Given the description of an element on the screen output the (x, y) to click on. 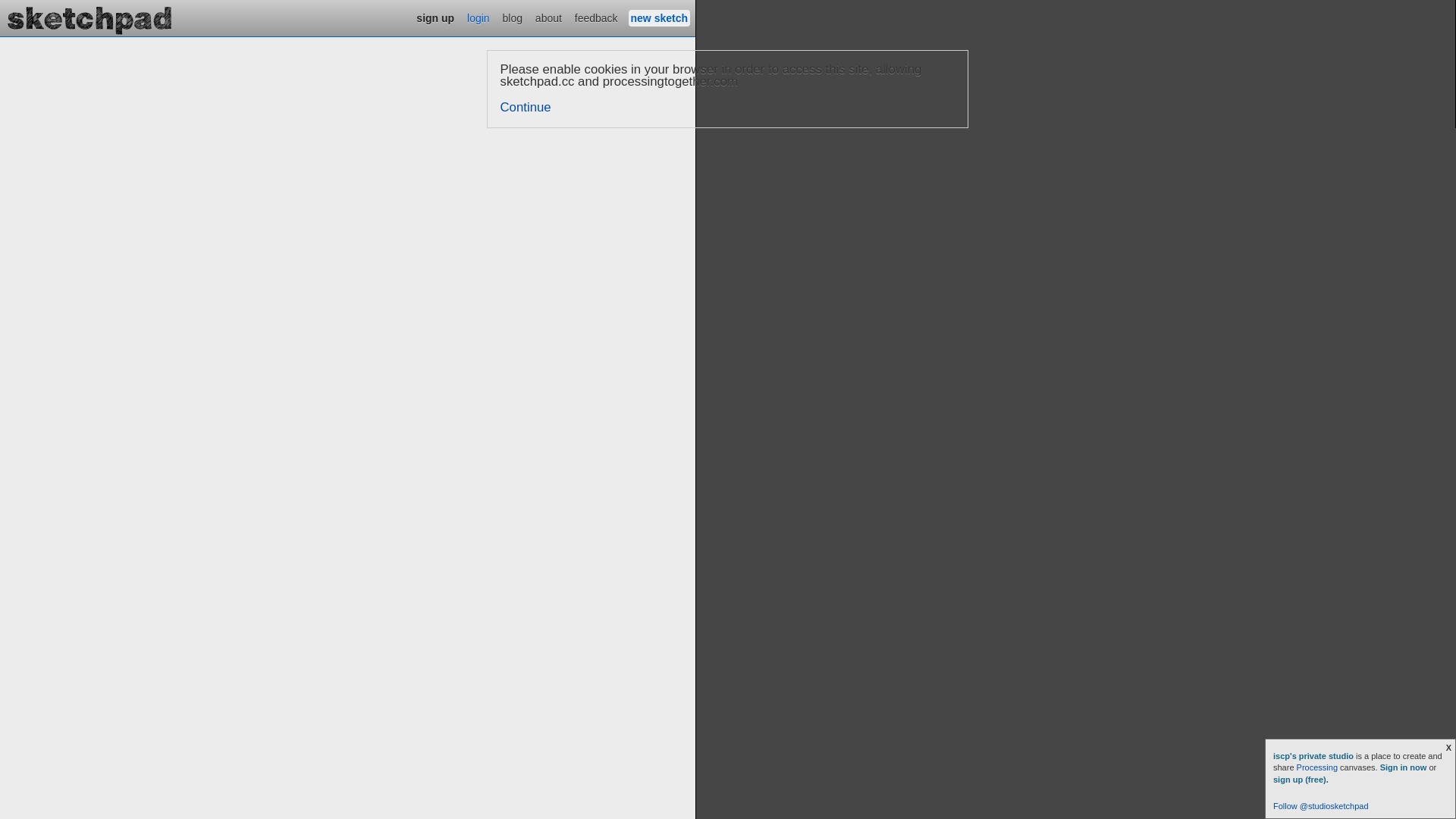
Sign in now Element type: text (1403, 766)
Studio Sketchpad is Processing on Etherpad Element type: hover (90, 18)
sign up Element type: text (435, 17)
Processing Element type: text (1316, 766)
sign up (free) Element type: text (1299, 779)
login Element type: text (478, 17)
Follow @studiosketchpad Element type: text (1320, 805)
about Element type: text (548, 17)
Continue Element type: text (525, 107)
new sketch Element type: text (659, 17)
iscp's private studio Element type: text (1314, 755)
blog Element type: text (512, 17)
feedback Element type: text (596, 17)
